Given the description of an element on the screen output the (x, y) to click on. 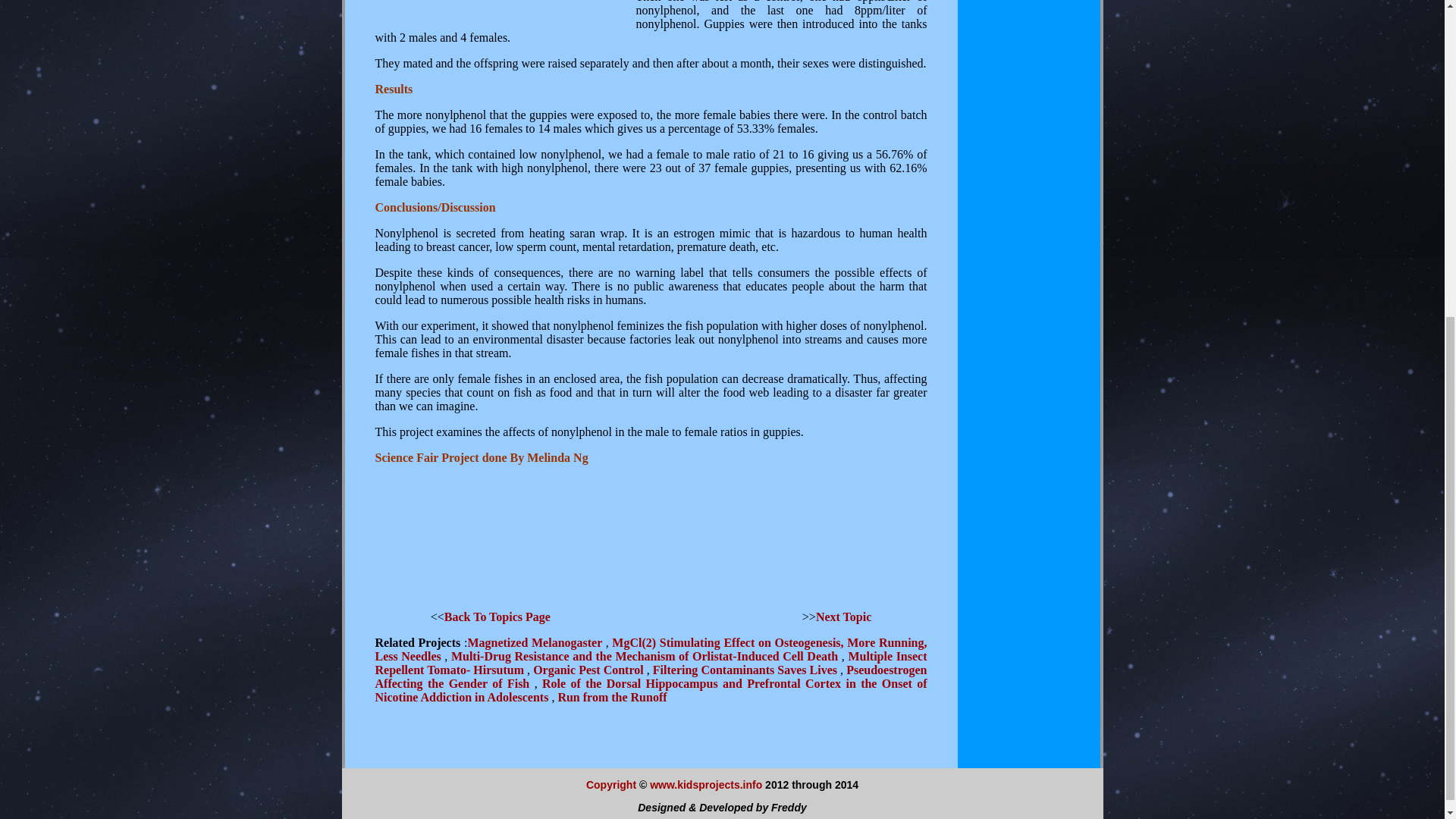
..... (558, 616)
Back To Topics Page (497, 616)
Advertisement (650, 519)
Next Topic (842, 616)
Organic Pest Control (589, 669)
Multiple Insect Repellent Tomato- Hirsutum (650, 663)
Magnetized Melanogaster (536, 642)
Filtering Contaminants Saves Lives (746, 669)
